Given the description of an element on the screen output the (x, y) to click on. 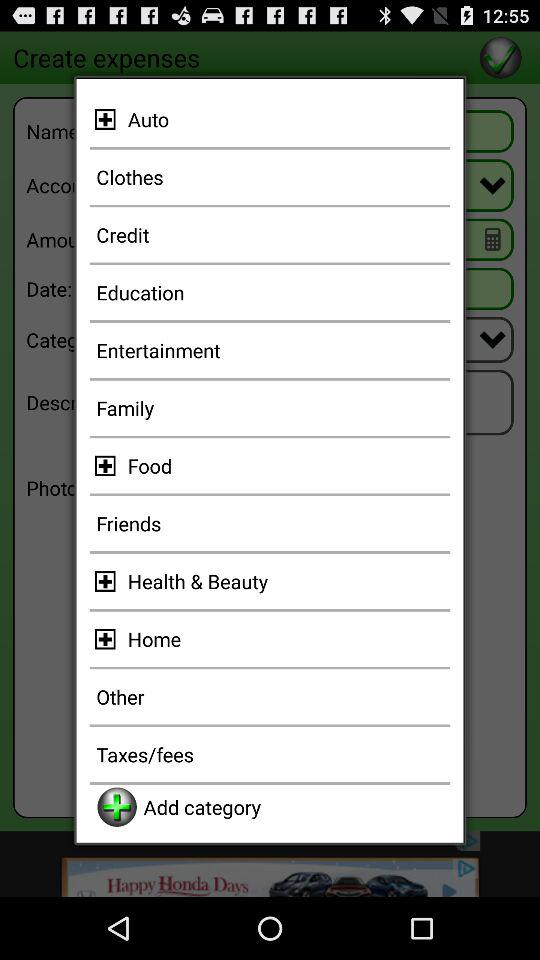
expands the category (108, 119)
